Given the description of an element on the screen output the (x, y) to click on. 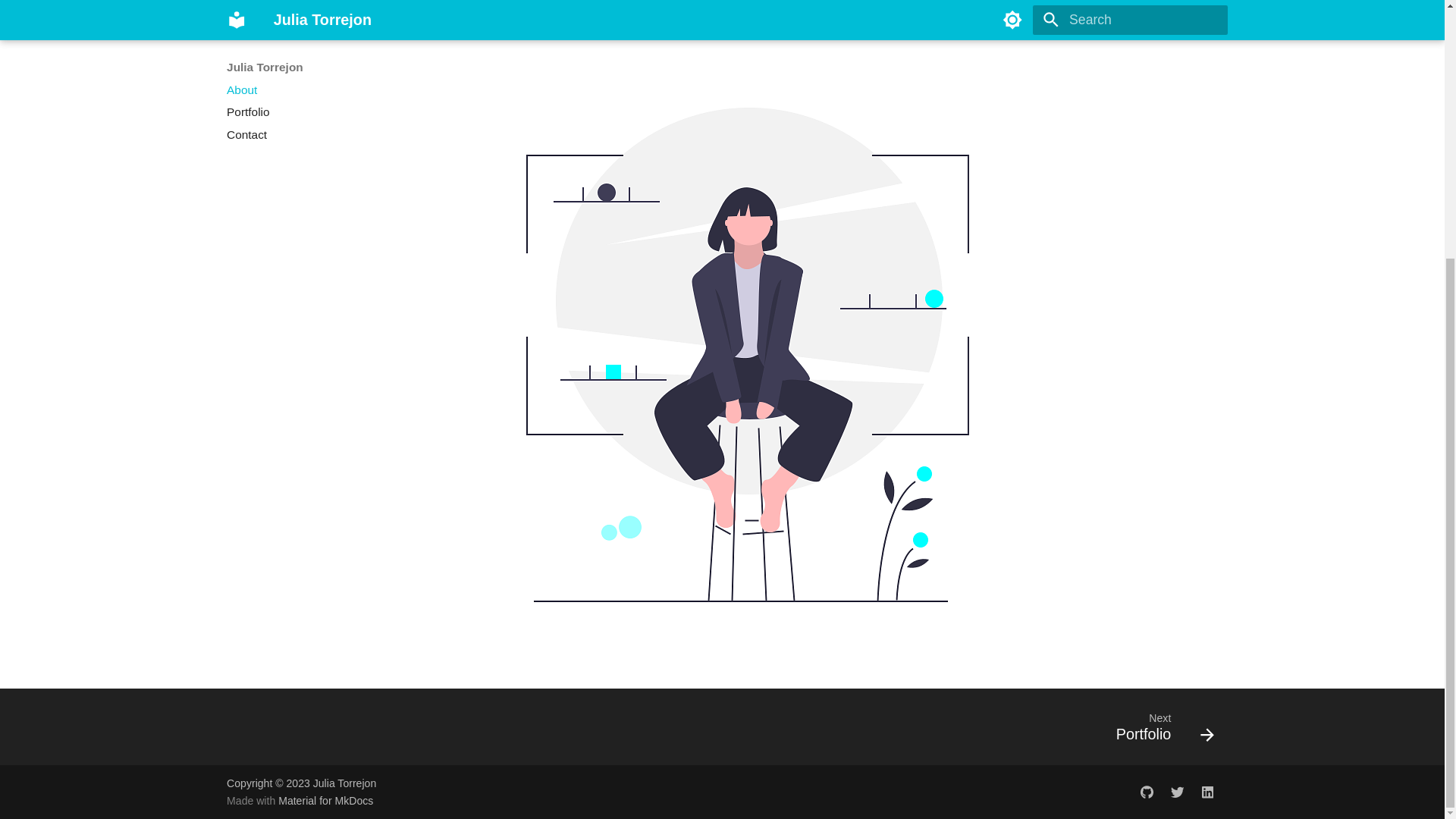
github.com (1147, 791)
twitter.com (1177, 791)
Material for MkDocs (1158, 731)
www.linkedin.com (325, 800)
